Given the description of an element on the screen output the (x, y) to click on. 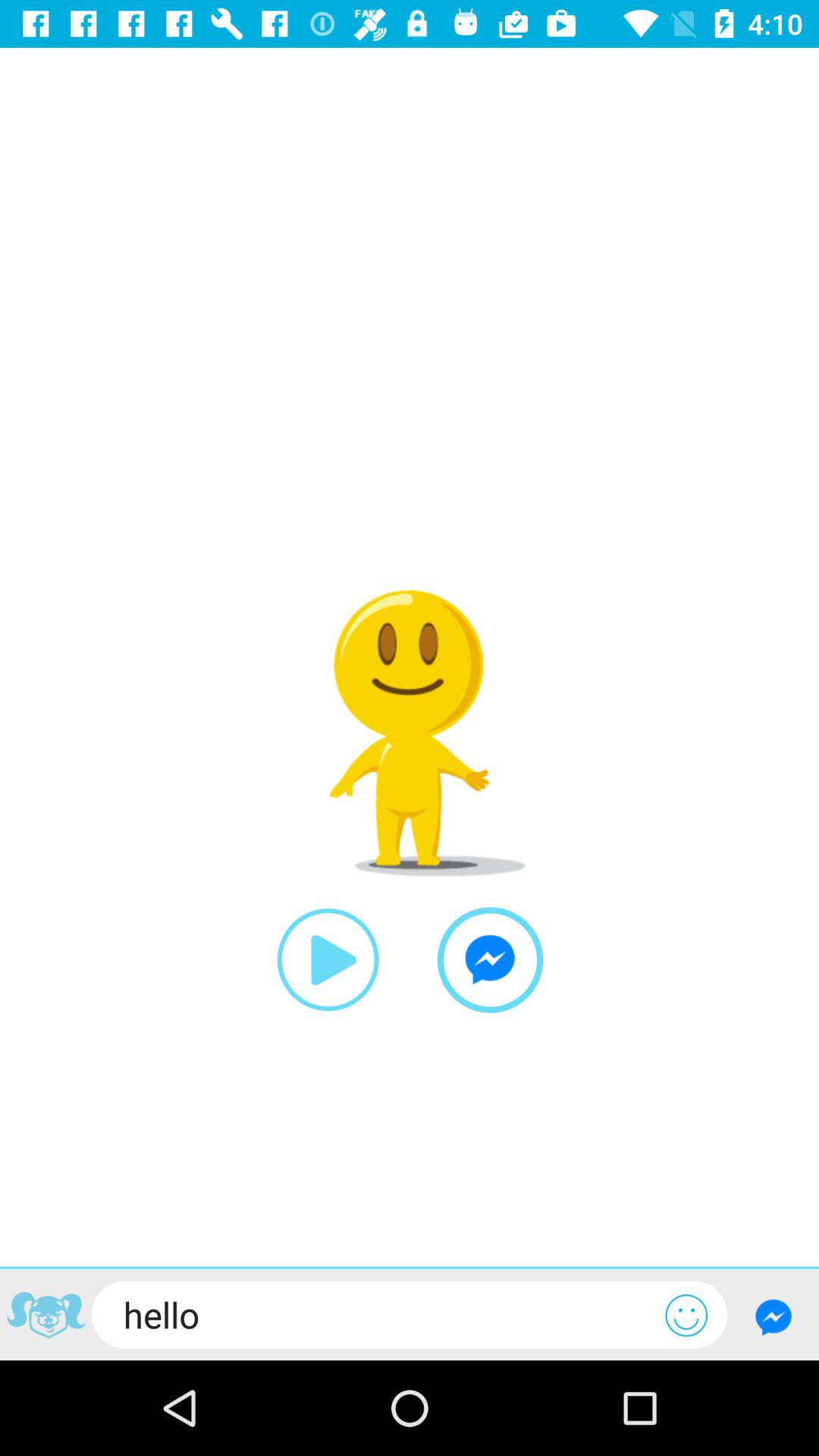
open the item next to the hello item (45, 1317)
